Given the description of an element on the screen output the (x, y) to click on. 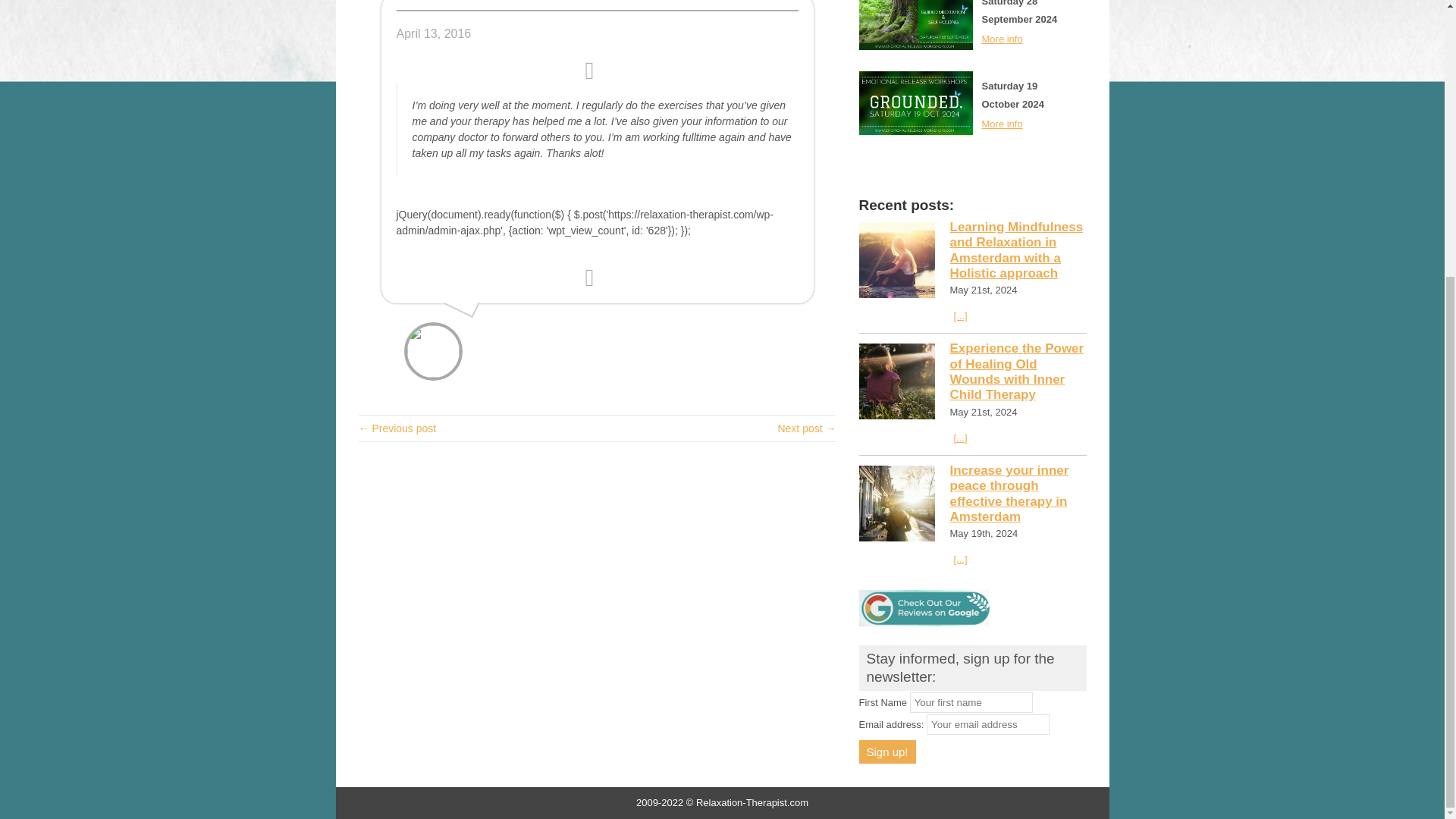
Sign up! (887, 751)
Sign up! (887, 751)
Testimonial Psychological Support (806, 428)
More info (1001, 123)
